Given the description of an element on the screen output the (x, y) to click on. 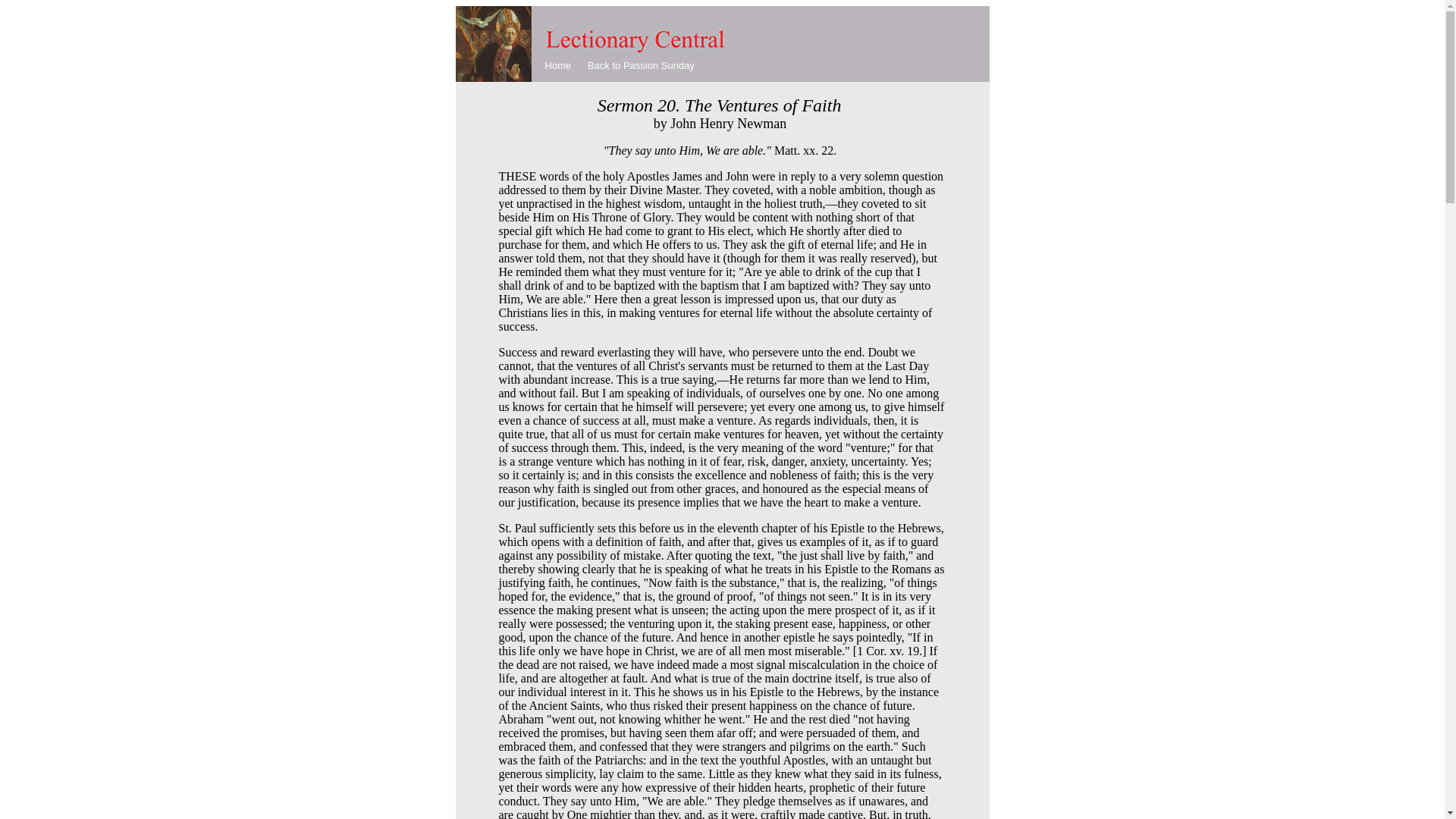
Passion Sunday (658, 65)
Home (558, 65)
Back to (605, 65)
